Given the description of an element on the screen output the (x, y) to click on. 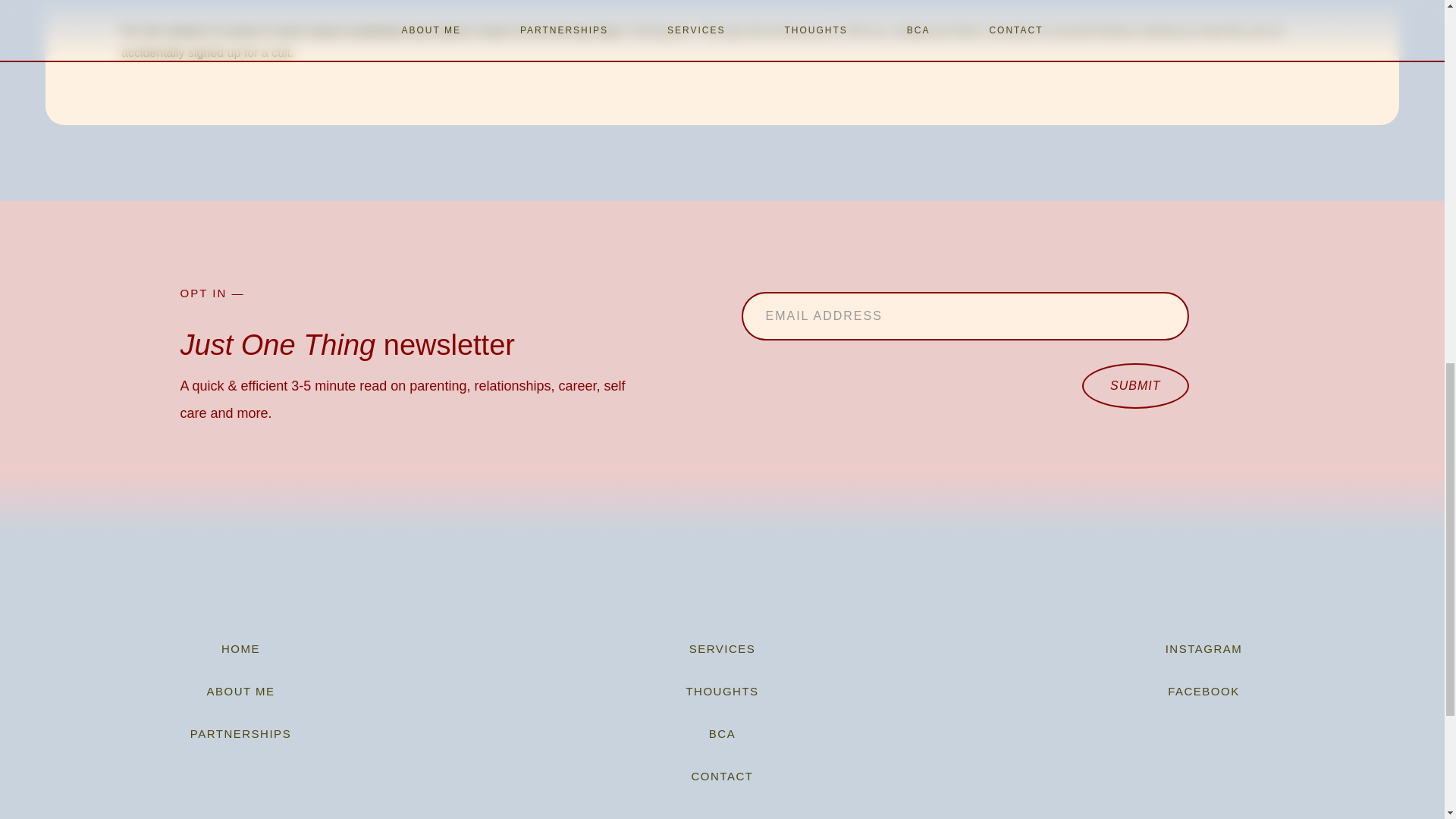
SUBMIT (1134, 385)
PARTNERSHIPS (240, 733)
THOUGHTS (722, 691)
HOME (240, 649)
SERVICES (722, 649)
INSTAGRAM (1204, 649)
ABOUT ME (240, 691)
BCA (722, 733)
FACEBOOK (1204, 691)
SUBMIT (1134, 385)
